Given the description of an element on the screen output the (x, y) to click on. 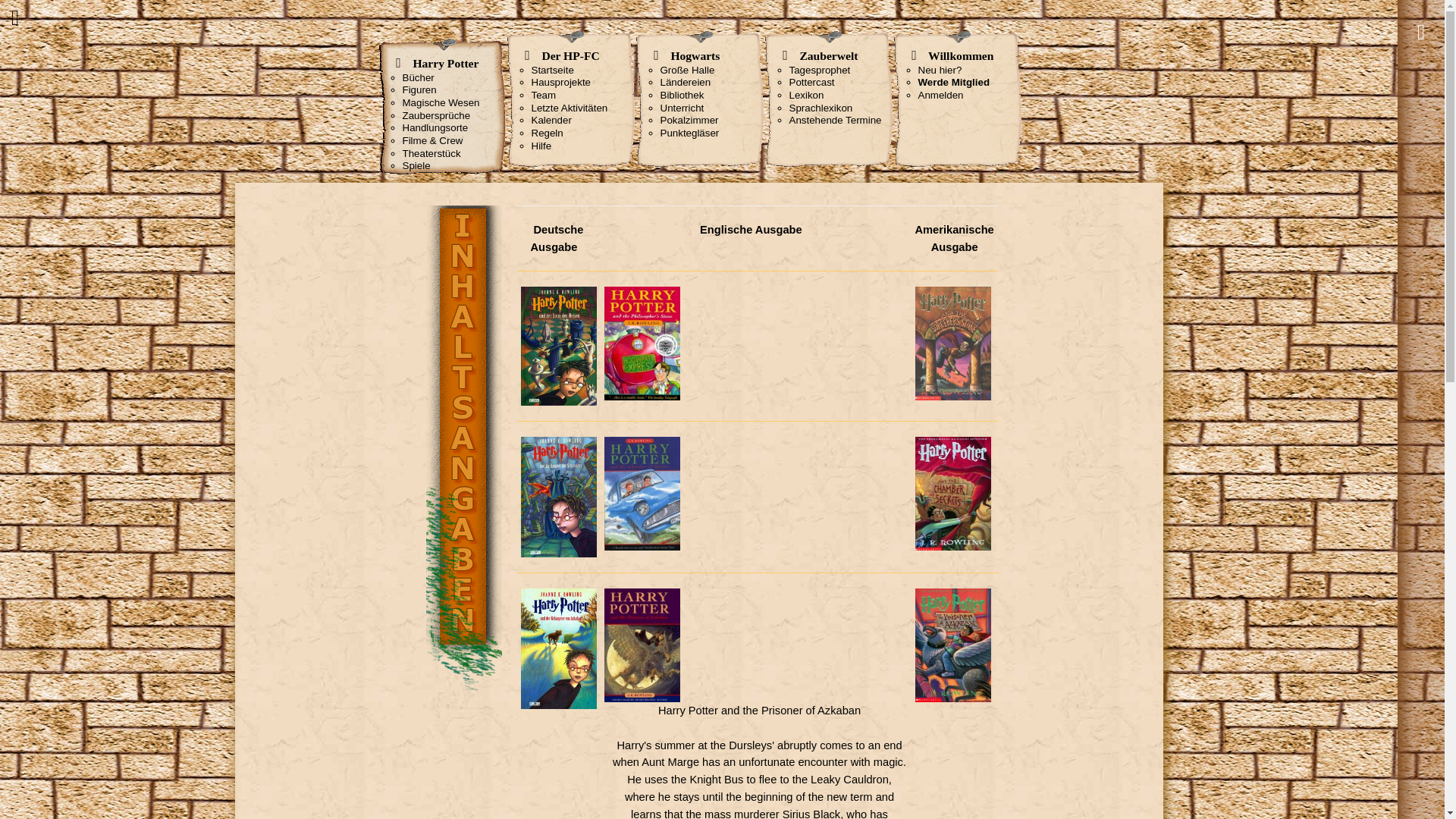
Tagesprophet (819, 70)
Pokalzimmer (688, 120)
Spiele (415, 165)
Bibliothek (681, 94)
Figuren (418, 89)
Hilfe (541, 145)
Harry Potter Buch 1 - amerikanisch (952, 343)
Magische Wesen (440, 102)
Regeln (546, 132)
Pottercast (811, 81)
Harry Potter Buch 2 - amerikanisch (952, 493)
Kalender (550, 120)
Harry Potter Buch 1 - englisch (641, 343)
Harry Potter Band 1 (557, 345)
Harry Potter Buch 2 - englisch (641, 493)
